Given the description of an element on the screen output the (x, y) to click on. 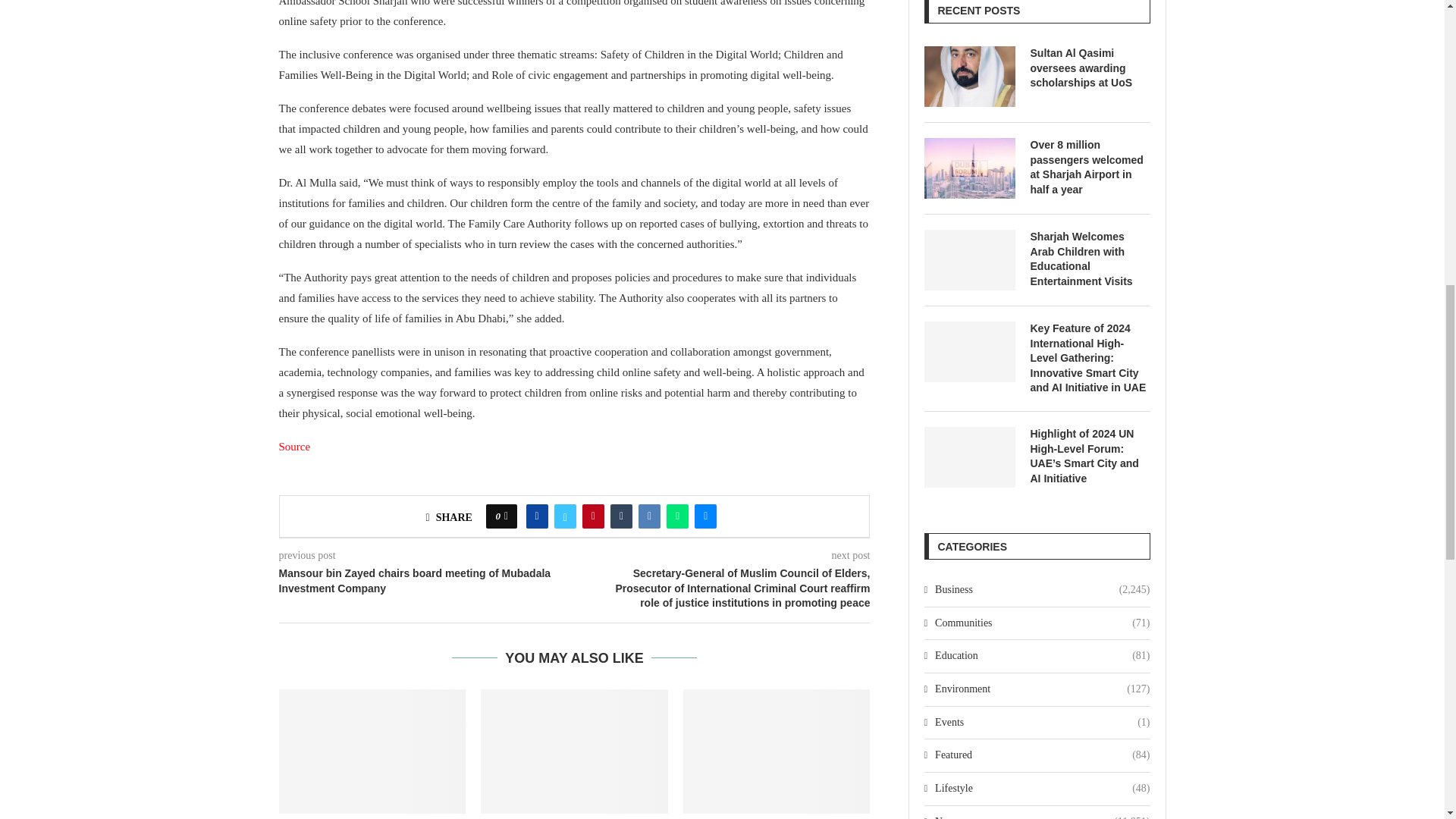
Sultan Al Qasimi oversees awarding scholarships at UoS (1089, 67)
Sultan Al Qasimi oversees awarding scholarships at UoS (968, 76)
Sultan Al Qasimi oversees awarding scholarships at UoS (372, 751)
Like (505, 516)
